Given the description of an element on the screen output the (x, y) to click on. 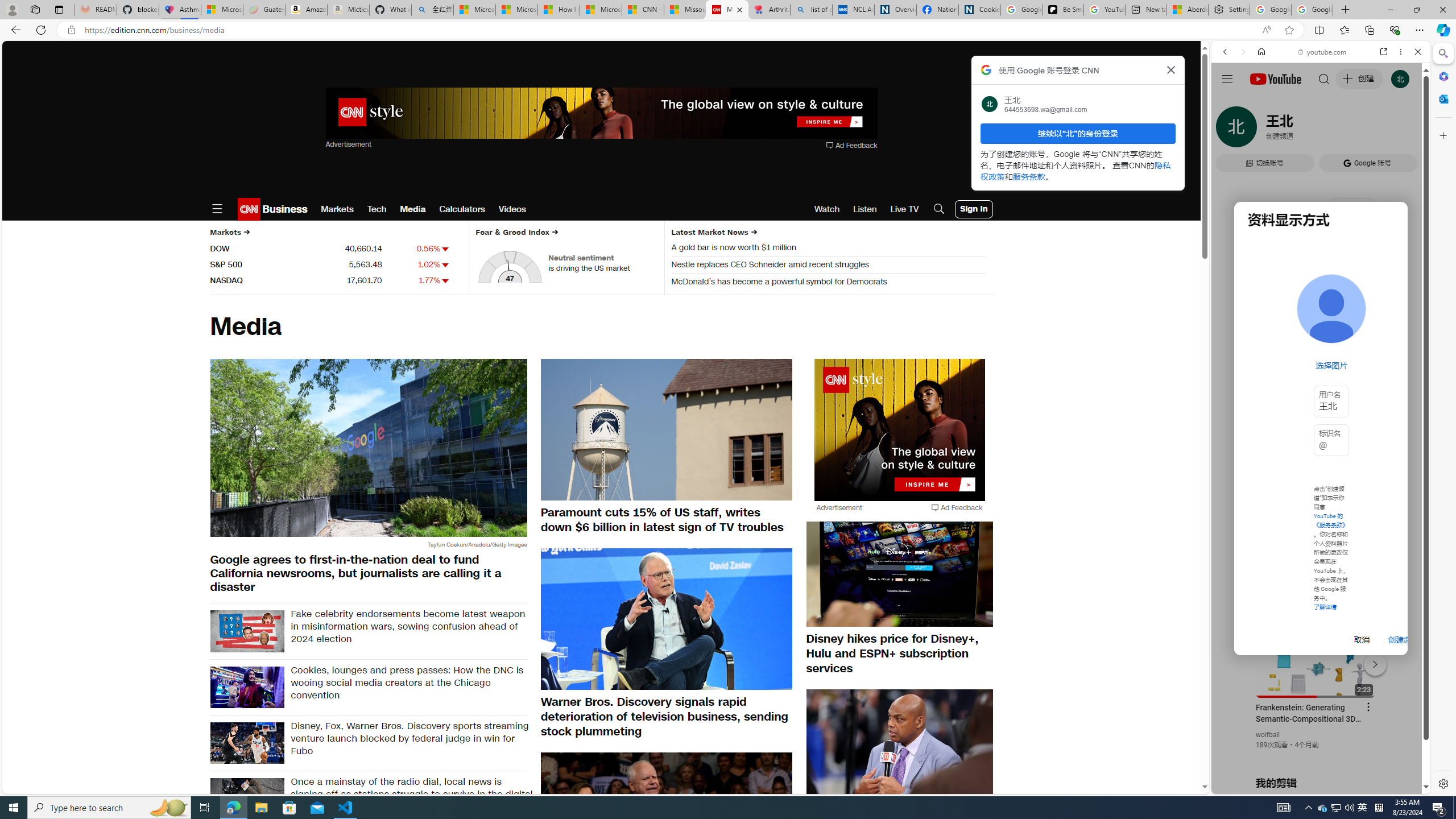
How I Got Rid of Microsoft Edge's Unnecessary Features (558, 9)
US[ju] (1249, 785)
Be Smart | creating Science videos | Patreon (1062, 9)
CNN - MSN (642, 9)
youtube.com (1322, 51)
Media (413, 209)
